Given the description of an element on the screen output the (x, y) to click on. 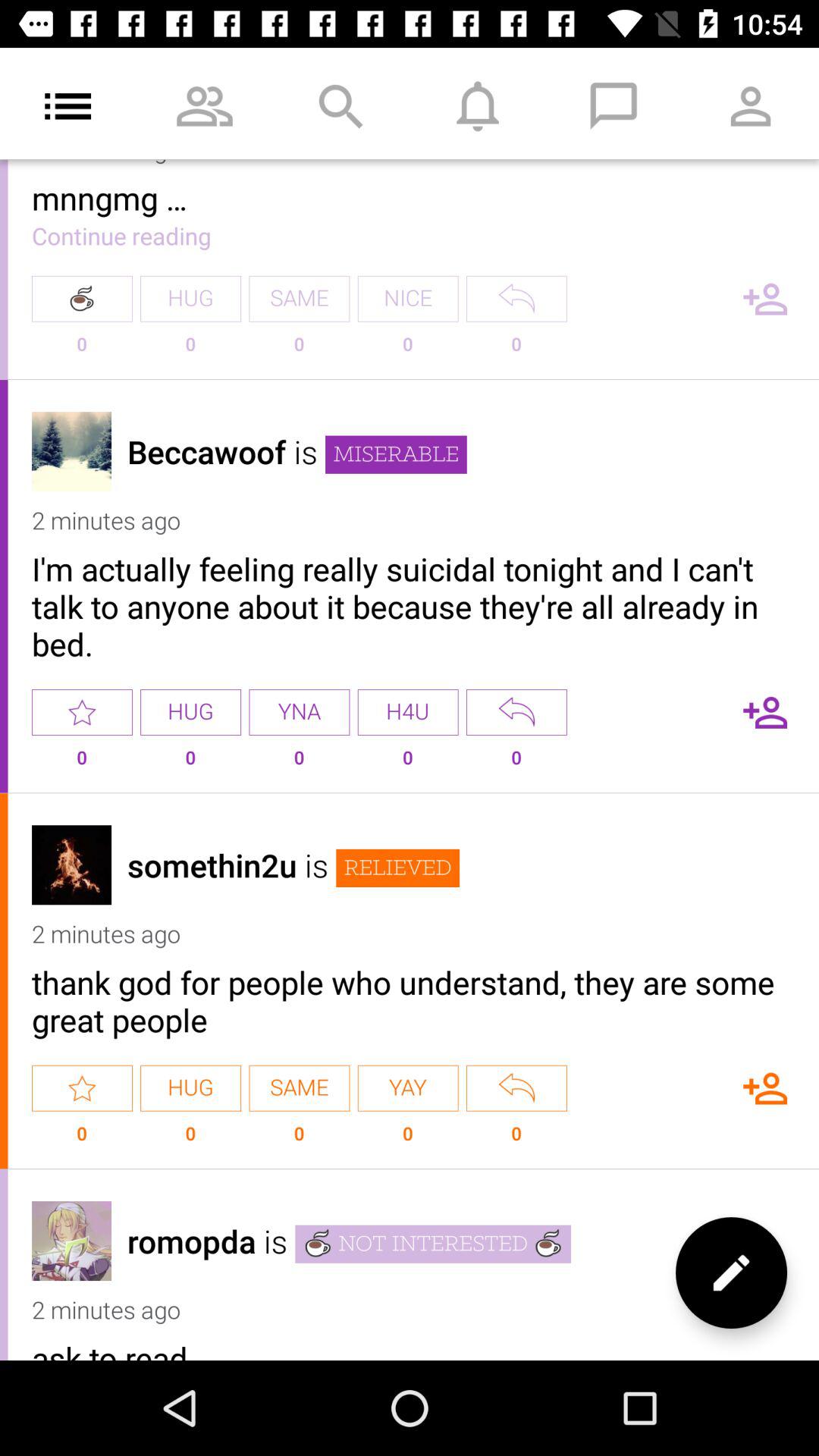
the edit option (731, 1272)
